Given the description of an element on the screen output the (x, y) to click on. 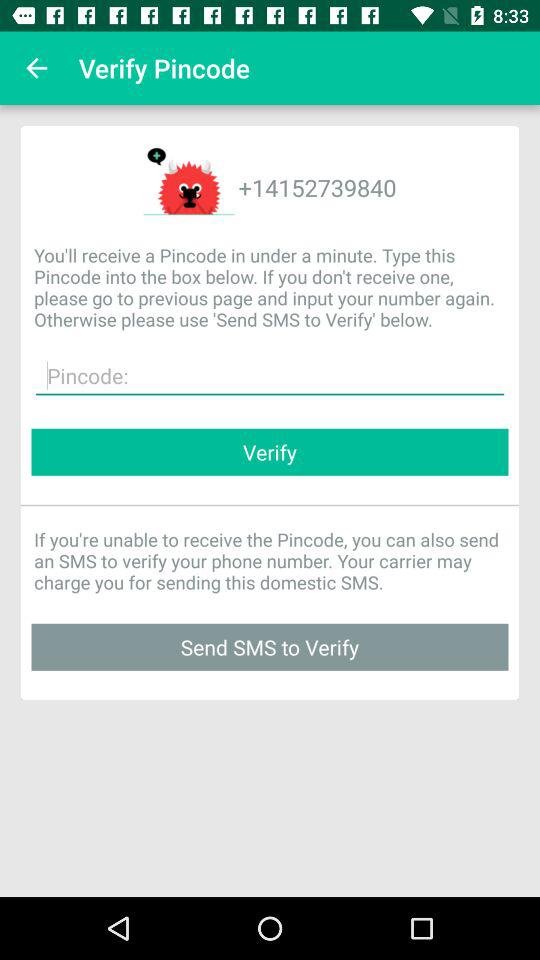
pincode option (269, 375)
